Given the description of an element on the screen output the (x, y) to click on. 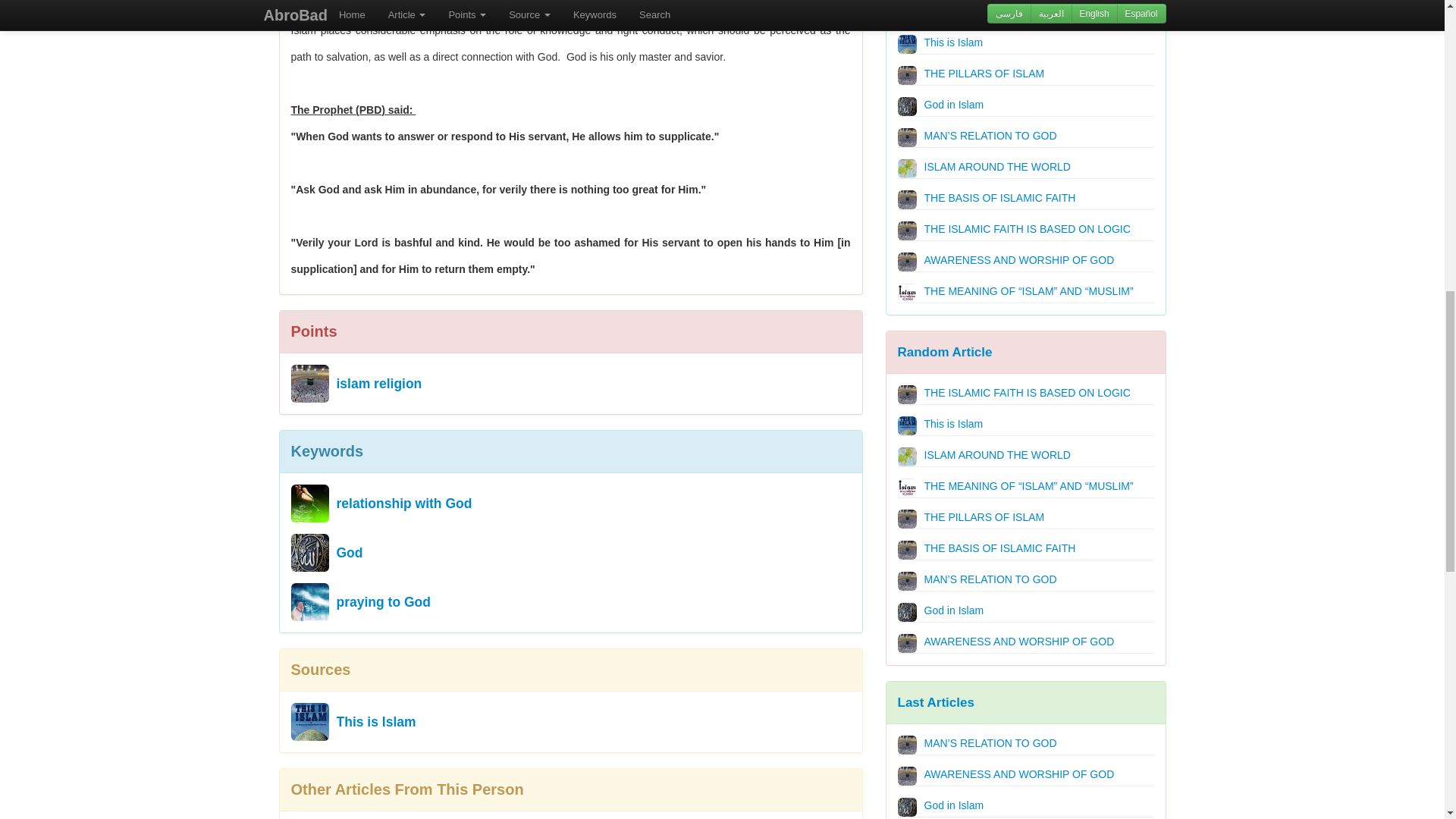
relationship with God (310, 503)
God (310, 552)
praying to God (383, 598)
praying to God (310, 601)
relationship with God (403, 499)
THE PILLARS OF ISLAM (907, 75)
islam religion (310, 383)
God in Islam (907, 106)
This is Islam (907, 44)
islam religion (379, 379)
